Given the description of an element on the screen output the (x, y) to click on. 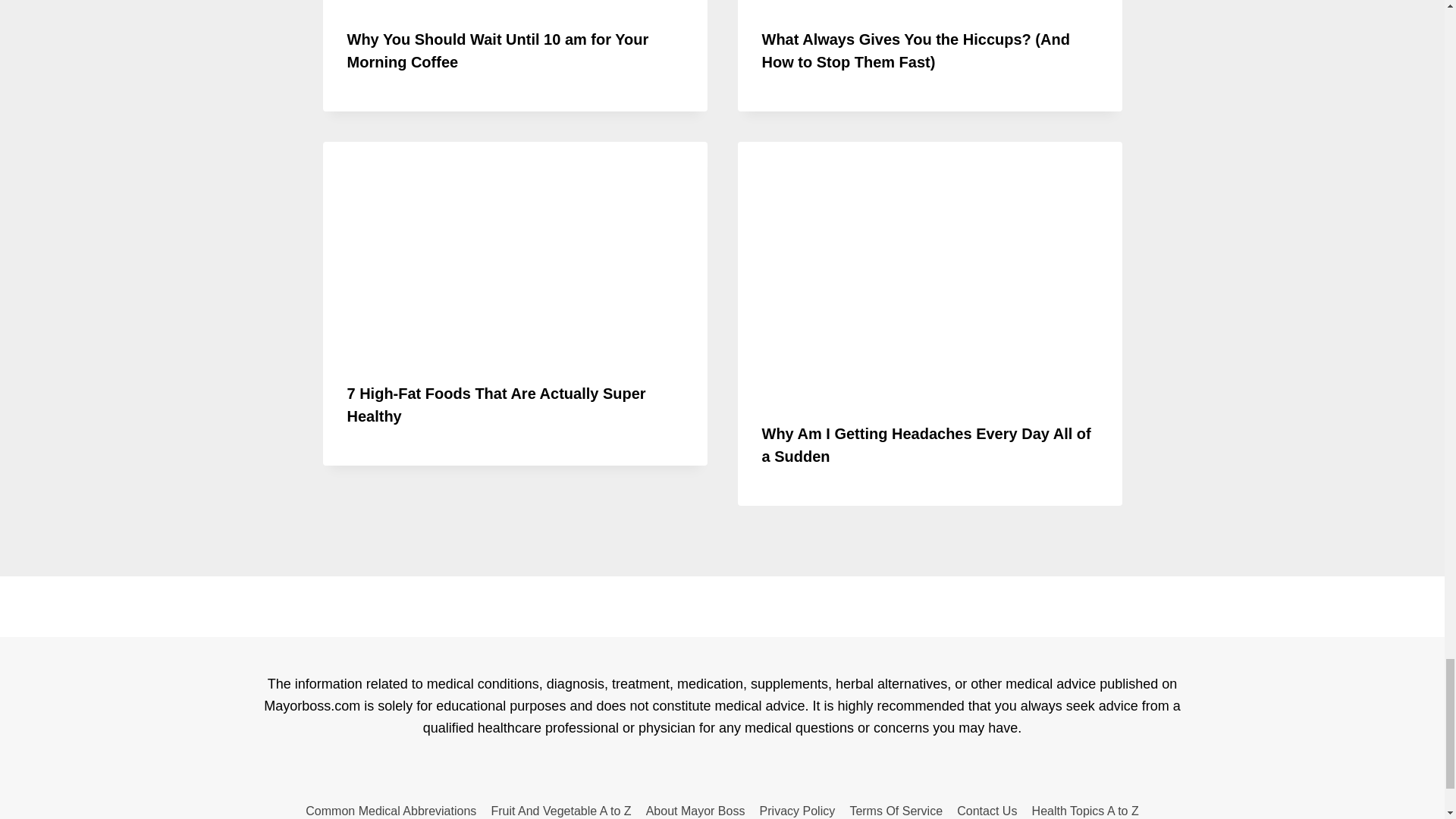
Terms Of Service (896, 808)
Why Am I Getting Headaches Every Day All of a Sudden (925, 445)
7 High-Fat Foods That Are Actually Super Healthy (496, 404)
About Mayor Boss (695, 808)
Privacy Policy (797, 808)
Common Medical Abbreviations (390, 808)
Why You Should Wait Until 10 am for Your Morning Coffee (498, 50)
Fruit And Vegetable A to Z (561, 808)
